Given the description of an element on the screen output the (x, y) to click on. 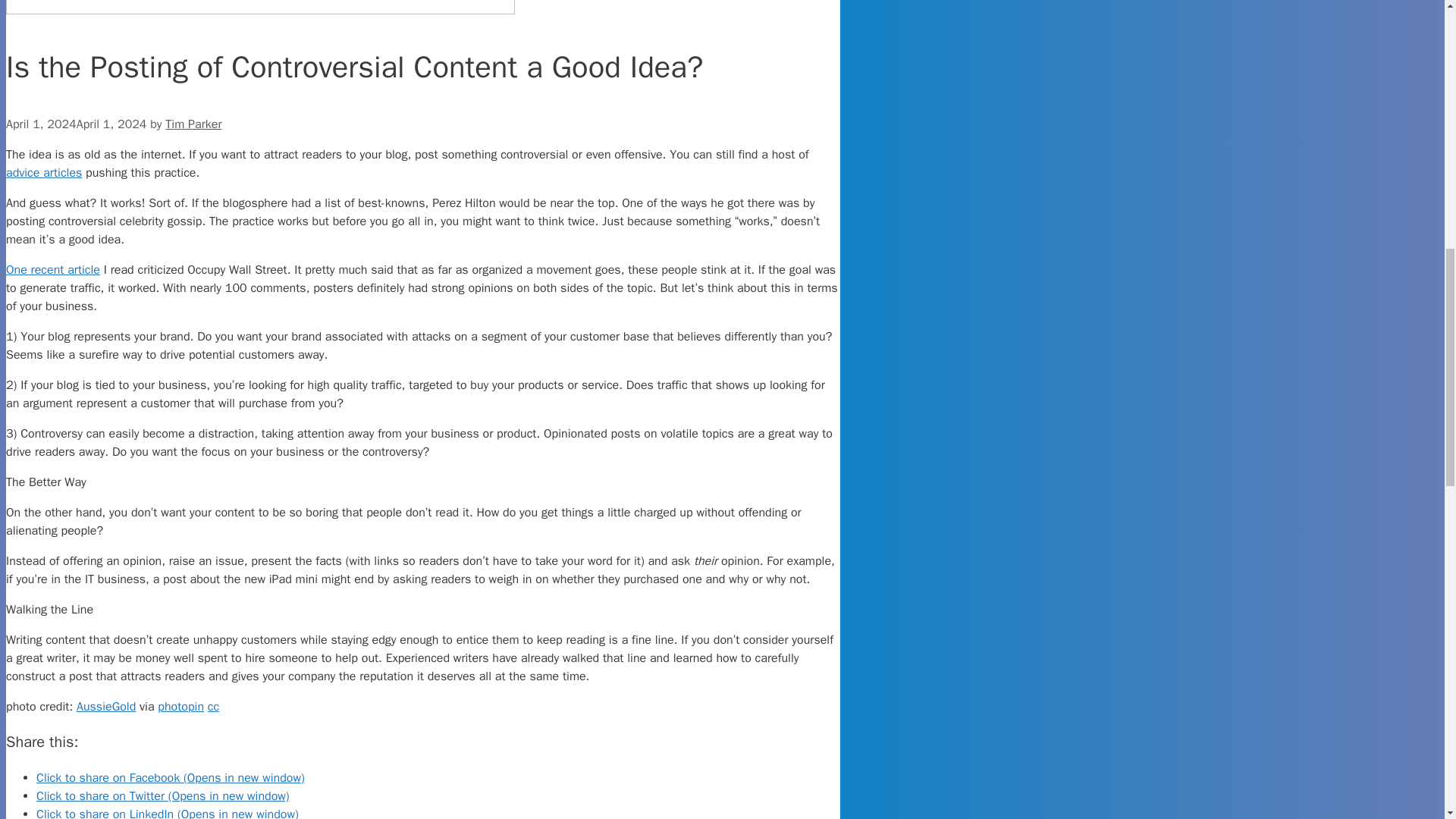
AussieGold (106, 706)
One recent article (52, 269)
Click to share on Twitter (162, 795)
Click to share on LinkedIn (167, 812)
advice articles (43, 172)
Click to share on Facebook (170, 777)
photopin (180, 706)
Tim Parker (193, 124)
View all posts by Tim Parker (193, 124)
